Given the description of an element on the screen output the (x, y) to click on. 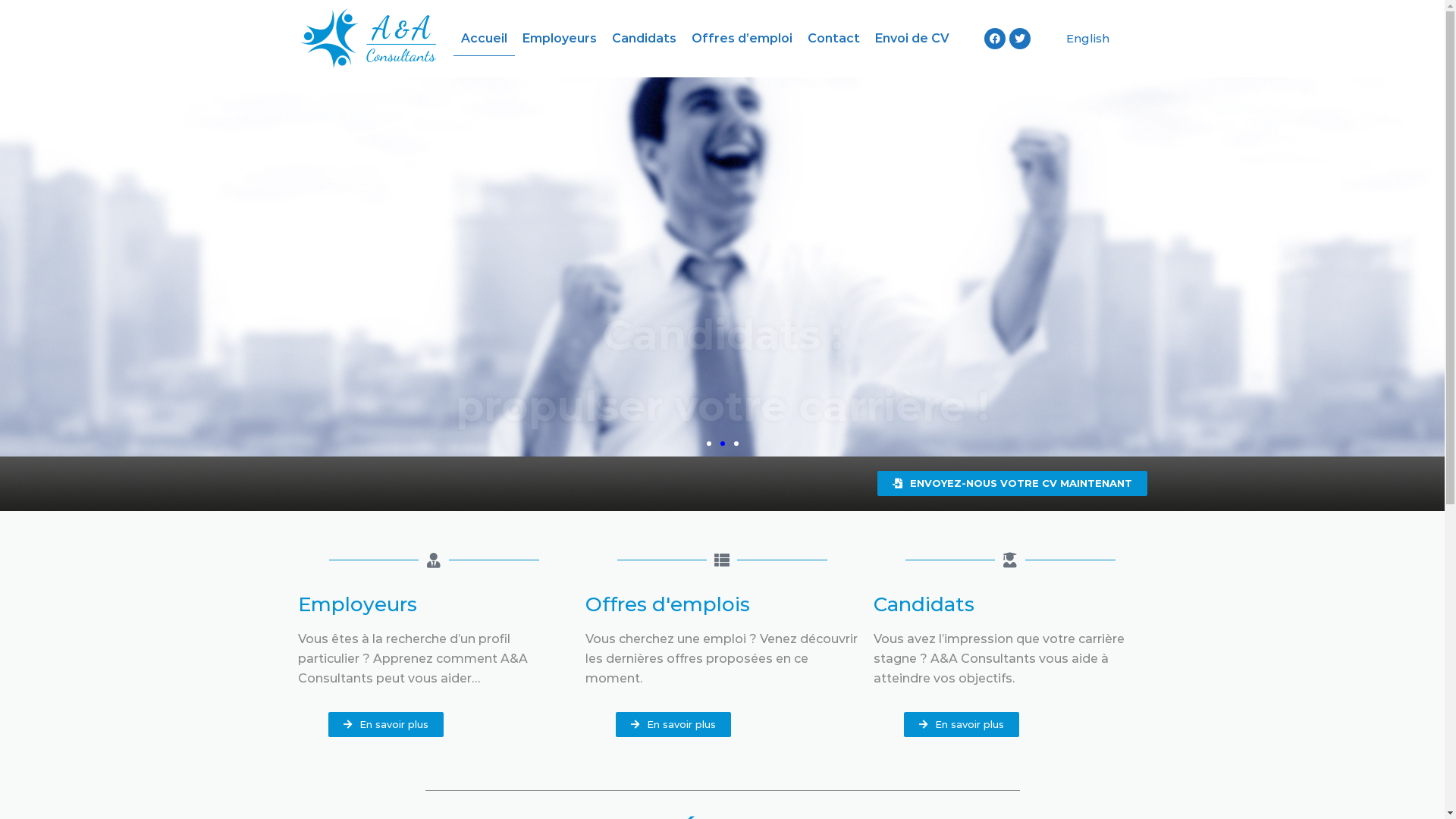
English Element type: text (1083, 39)
Employeurs Element type: text (559, 38)
Candidats Element type: text (644, 38)
En savoir plus Element type: text (384, 724)
Accueil Element type: text (483, 38)
ENVOYEZ-NOUS VOTRE CV MAINTENANT Element type: text (1011, 482)
Envoi de CV Element type: text (912, 38)
En savoir plus Element type: text (961, 724)
En savoir plus Element type: text (673, 724)
Contact Element type: text (833, 38)
